Given the description of an element on the screen output the (x, y) to click on. 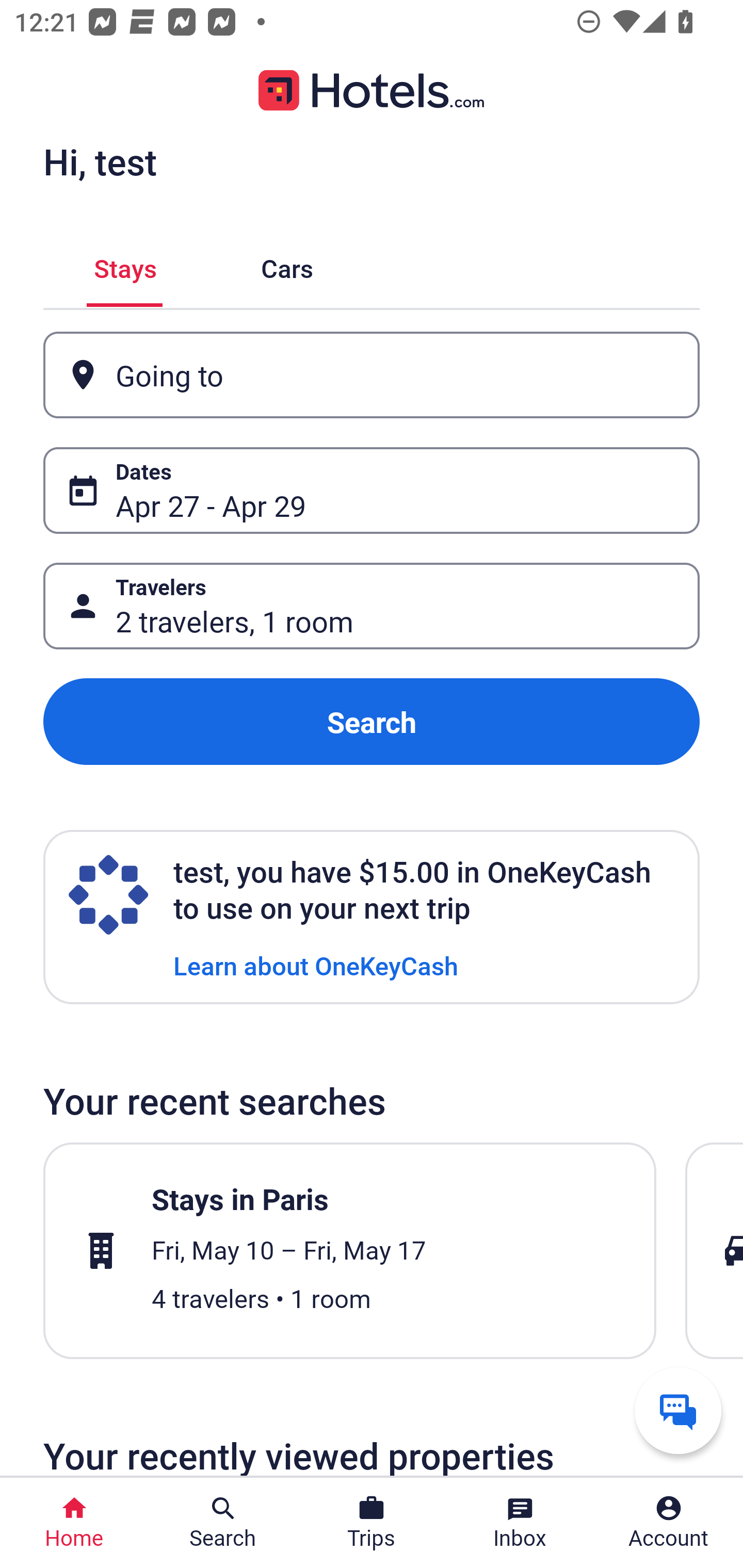
Hi, test (99, 161)
Cars (286, 265)
Going to Button (371, 375)
Dates Button Apr 27 - Apr 29 (371, 489)
Travelers Button 2 travelers, 1 room (371, 605)
Search (371, 721)
Learn about OneKeyCash Learn about OneKeyCash Link (315, 964)
Get help from a virtual agent (677, 1410)
Search Search Button (222, 1522)
Trips Trips Button (371, 1522)
Inbox Inbox Button (519, 1522)
Account Profile. Button (668, 1522)
